Given the description of an element on the screen output the (x, y) to click on. 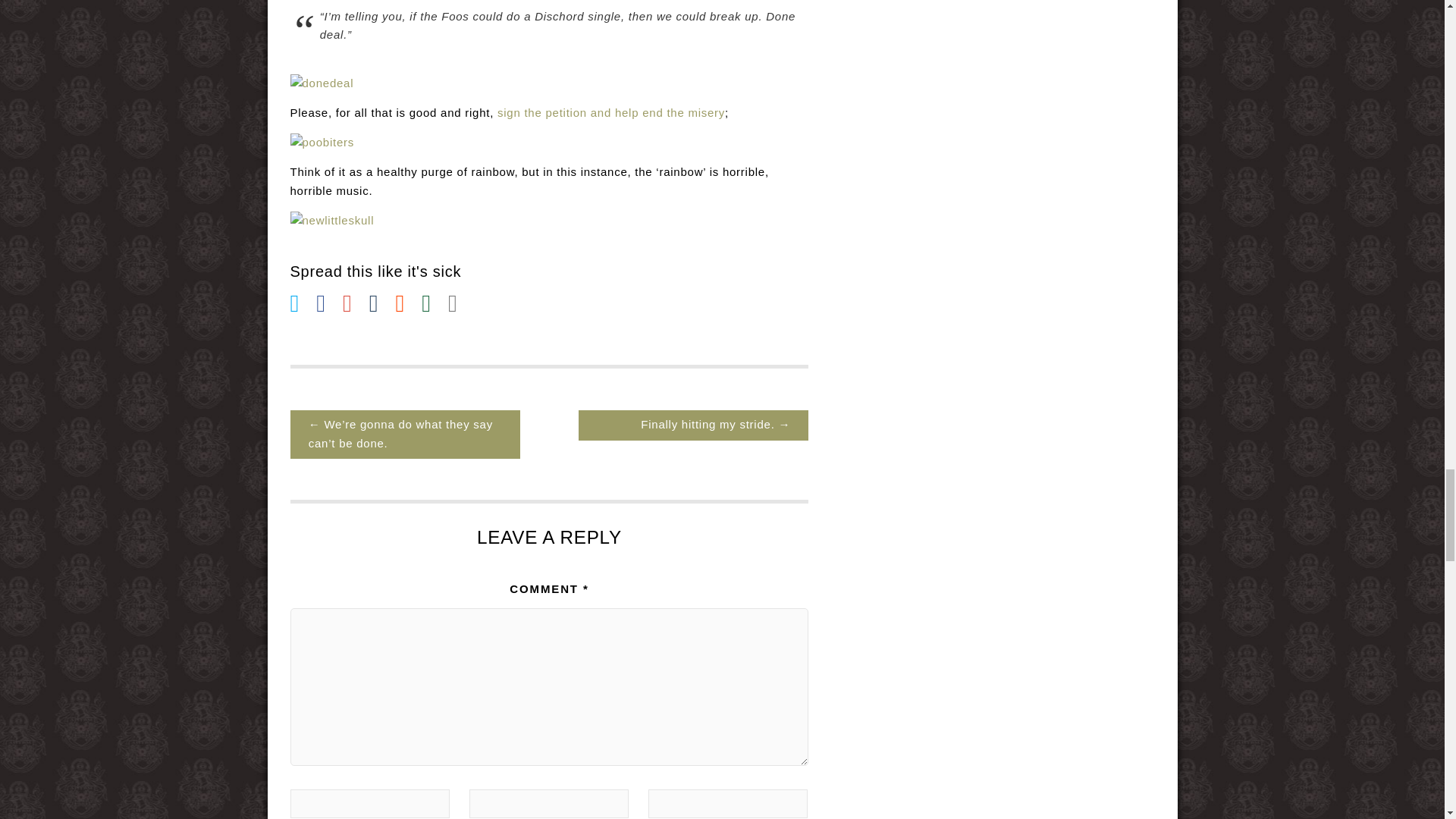
sign the petition and help end the misery (611, 112)
